Given the description of an element on the screen output the (x, y) to click on. 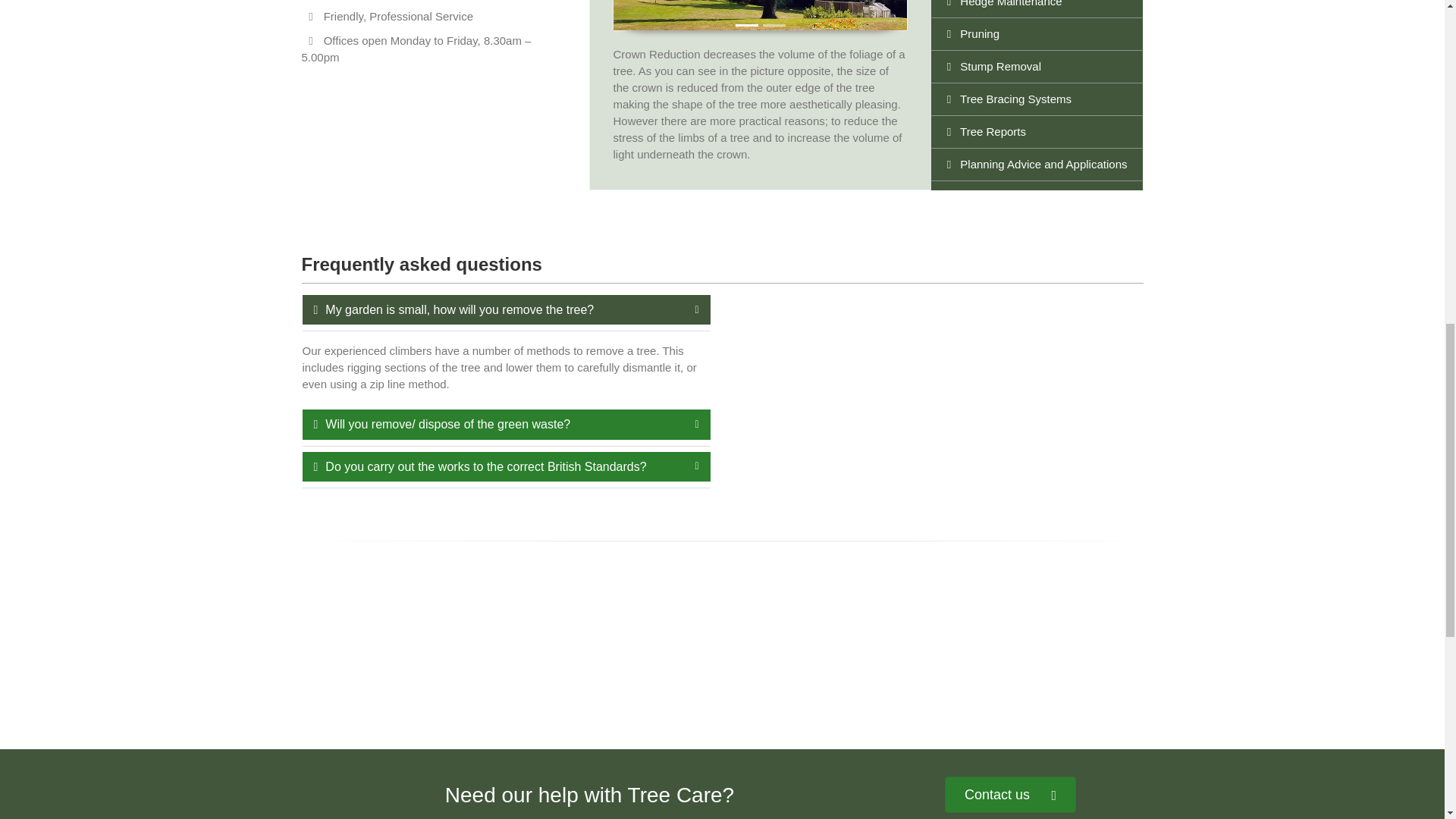
Stump Removal (1036, 66)
Hedge Maintenance (1036, 9)
Tree Bracing Systems (1036, 99)
Pruning (1036, 33)
